Given the description of an element on the screen output the (x, y) to click on. 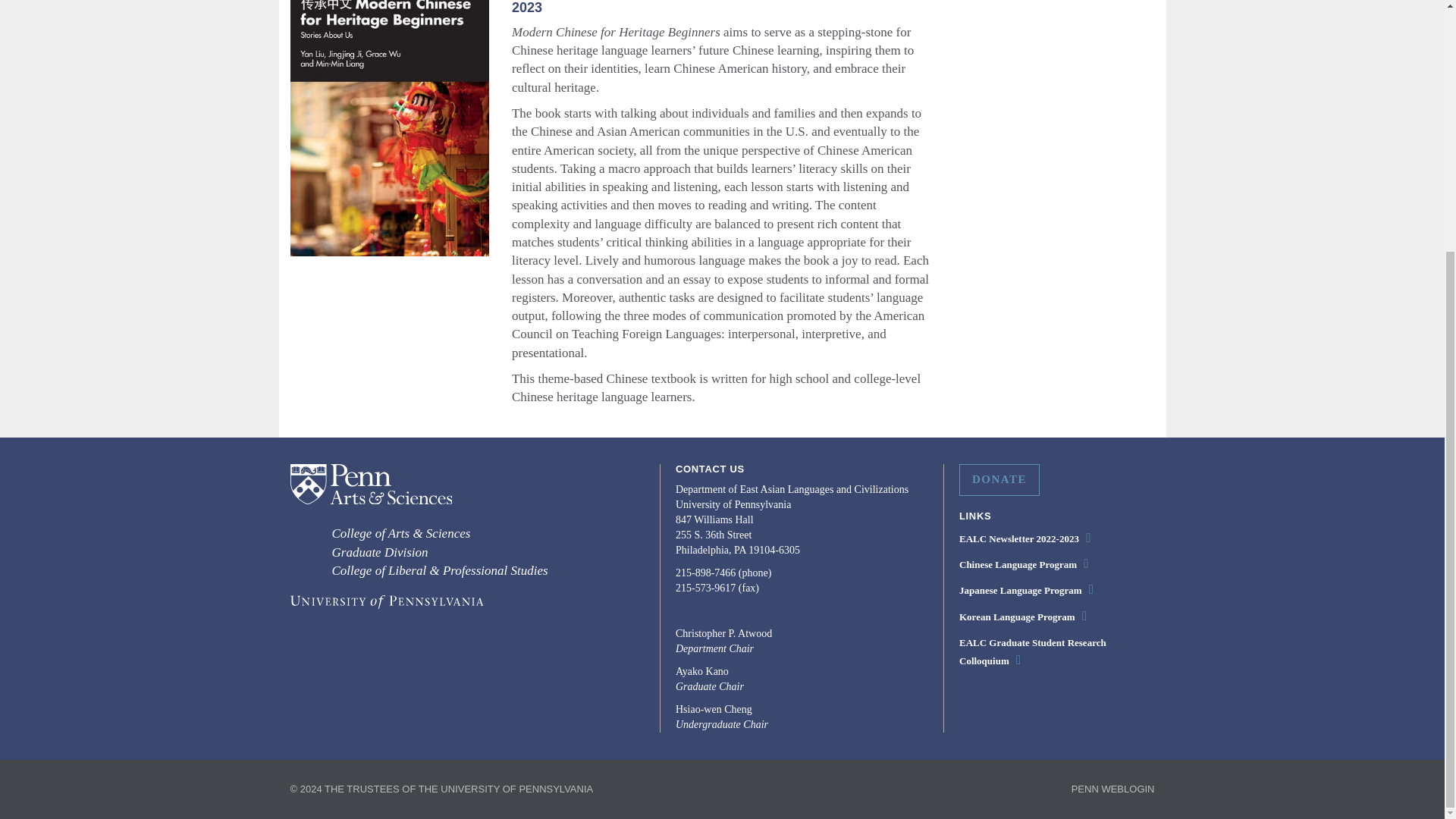
Penn Weblogin (1105, 788)
215-898-7466 (705, 572)
PENN WEBLOGIN (1105, 788)
DONATE (999, 480)
215-573-9617 (705, 587)
Graduate Division (379, 552)
Korean Language Program (1017, 616)
Japanese Language Program (1020, 590)
University of Pennsylvania (385, 604)
Chinese Language Program (1018, 564)
EALC Newsletter 2022-2023 (1018, 538)
EALC Graduate Student Research Colloquium (1032, 651)
